Given the description of an element on the screen output the (x, y) to click on. 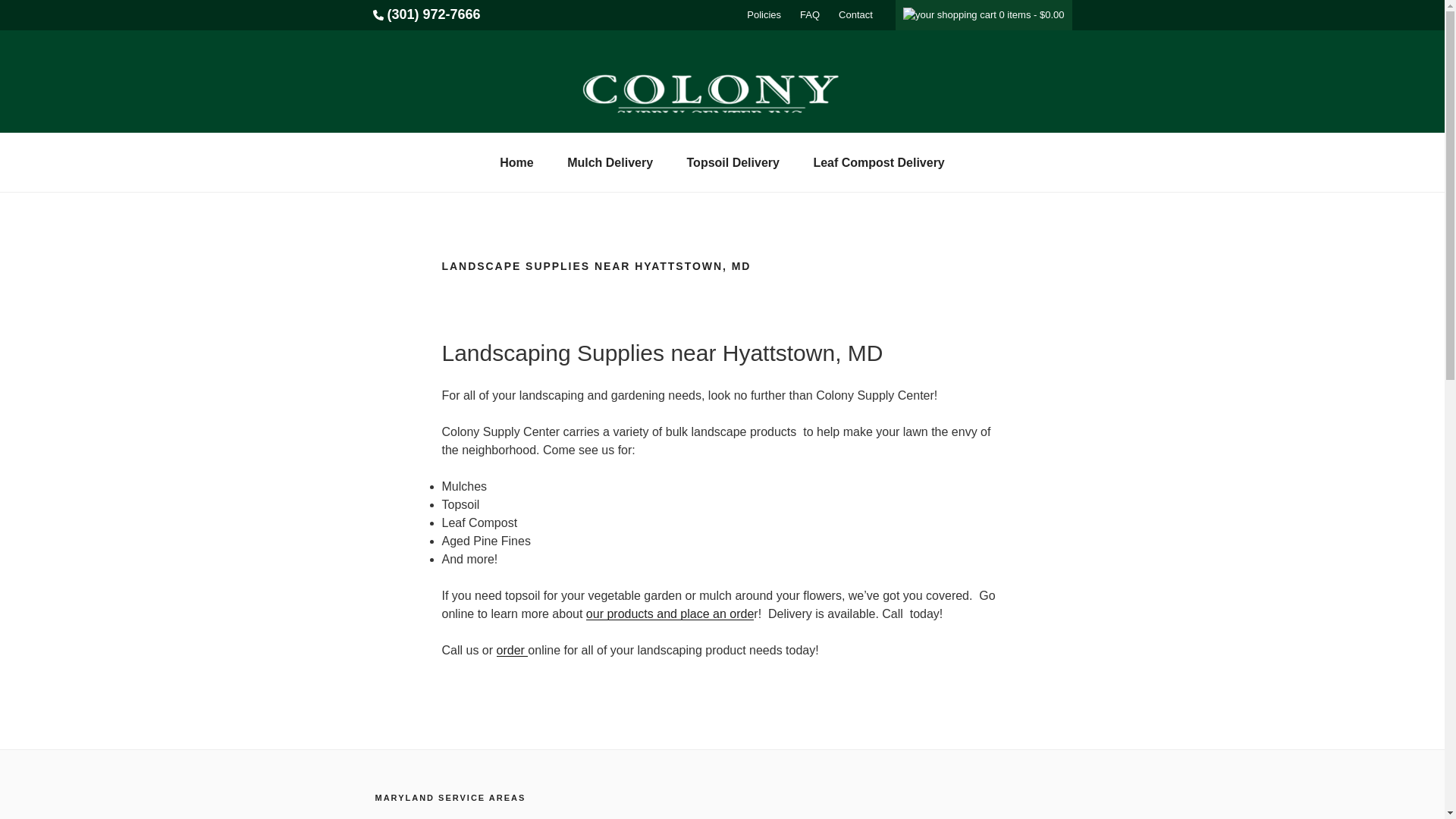
Home (516, 162)
Topsoil Delivery (732, 162)
Leaf Compost Delivery (878, 162)
View your shopping cart (983, 14)
Landscape and Gardening Supply MD (426, 14)
Mulch Delivery (609, 162)
order (512, 649)
Policies (763, 14)
our products and place an orde (670, 613)
Contact (855, 14)
